Given the description of an element on the screen output the (x, y) to click on. 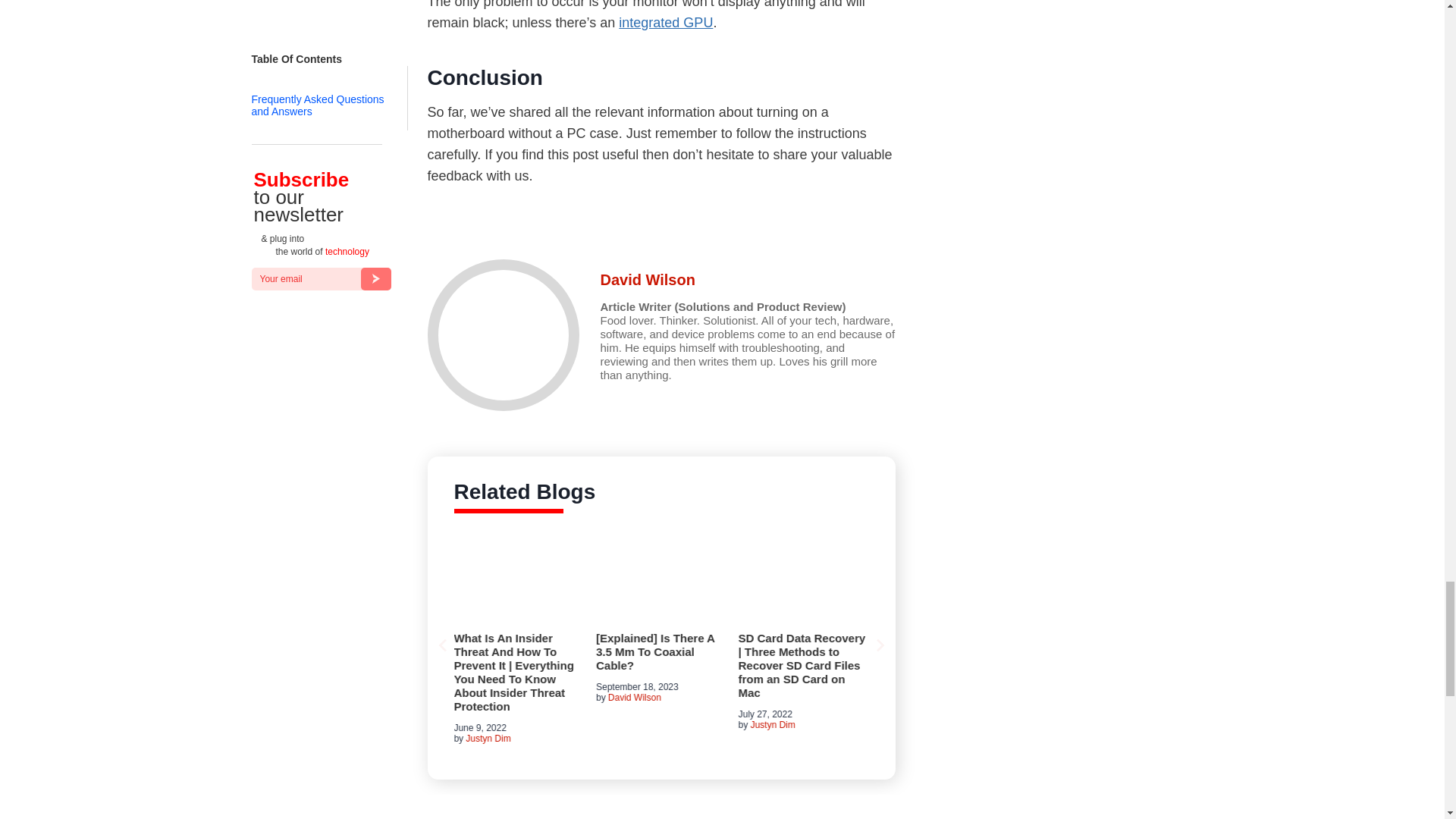
David Wilson (647, 279)
Posts by David Wilson (647, 279)
integrated GPU (665, 22)
